Given the description of an element on the screen output the (x, y) to click on. 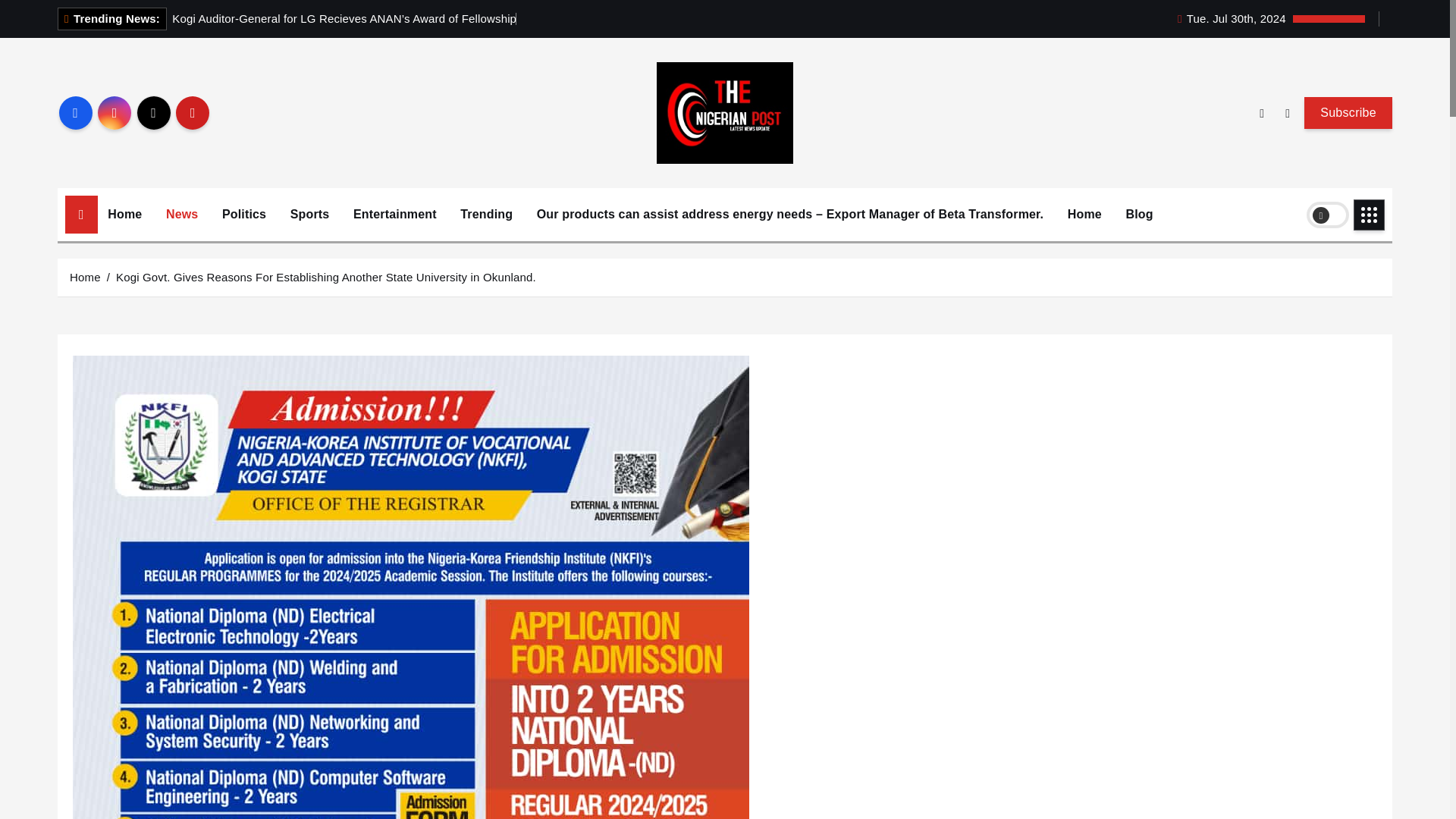
News (181, 214)
Entertainment (394, 214)
Politics (244, 214)
Subscribe (1347, 112)
Home (1085, 214)
Trending (485, 214)
Politics (244, 214)
Sports (310, 214)
Home (124, 214)
Blog (1139, 214)
Entertainment (394, 214)
Sports (310, 214)
Home (124, 214)
News (181, 214)
Blog (1139, 214)
